Given the description of an element on the screen output the (x, y) to click on. 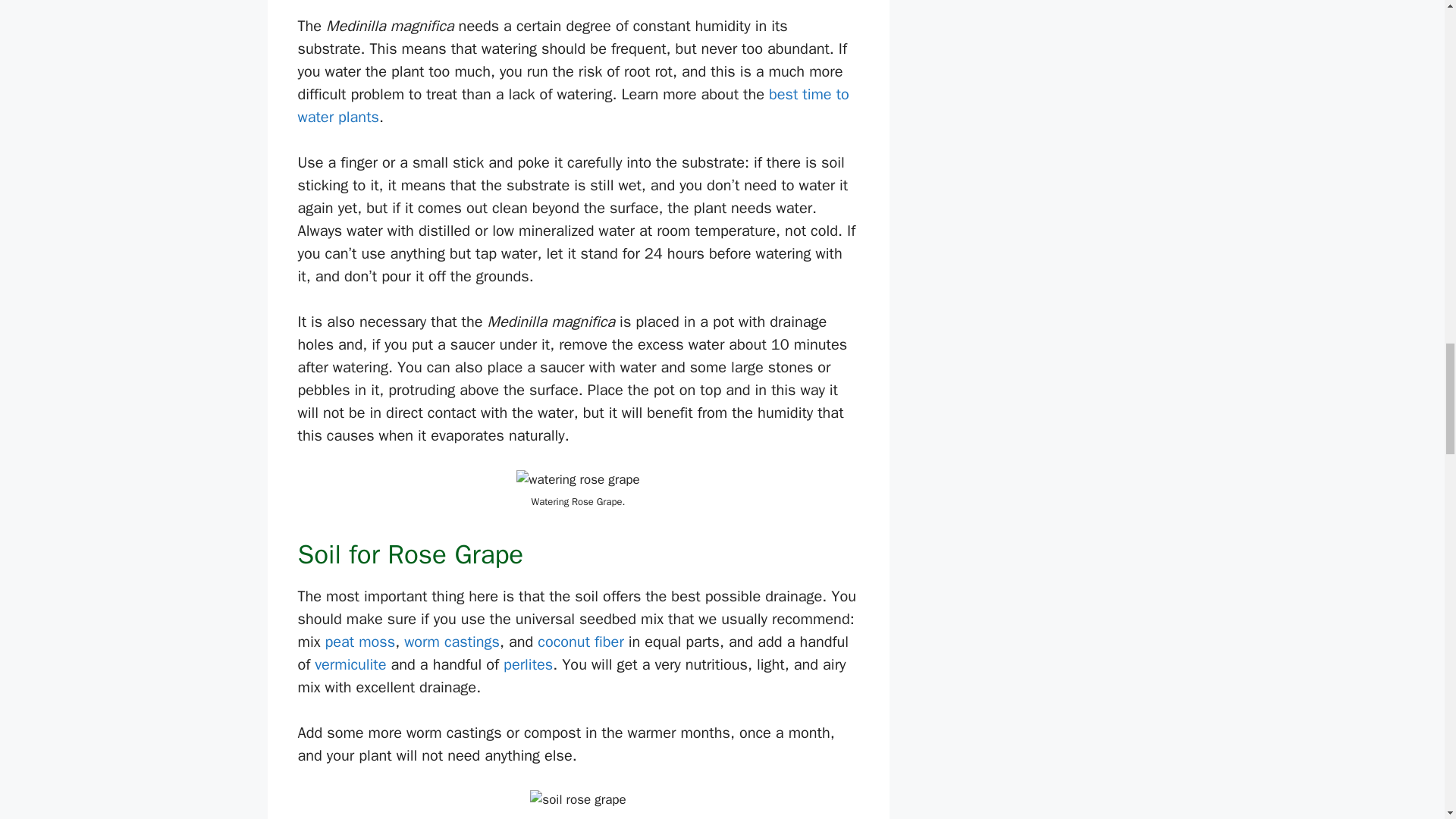
best time to water plants (572, 105)
peat moss (359, 641)
